Given the description of an element on the screen output the (x, y) to click on. 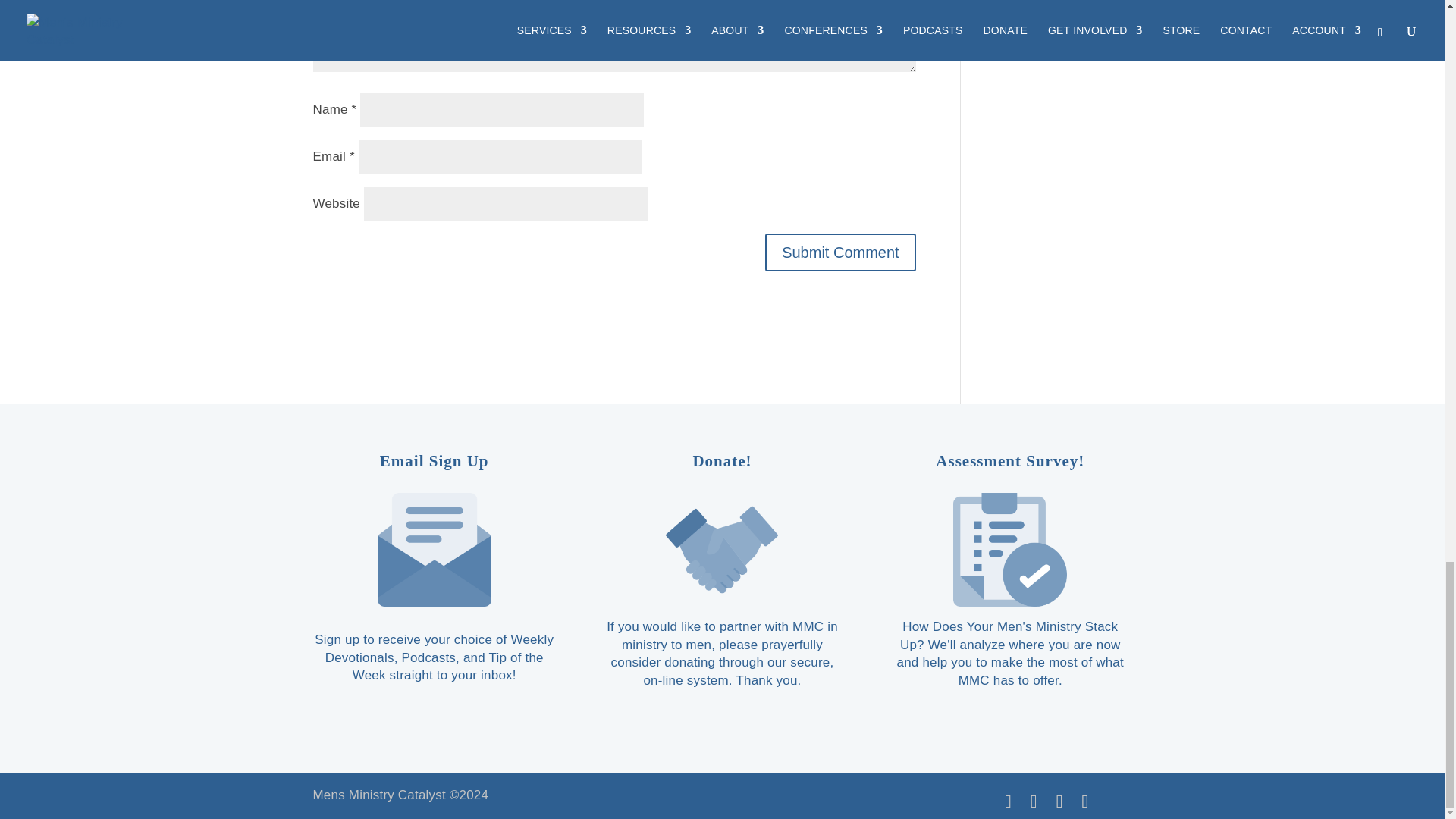
Submit Comment (840, 252)
